Given the description of an element on the screen output the (x, y) to click on. 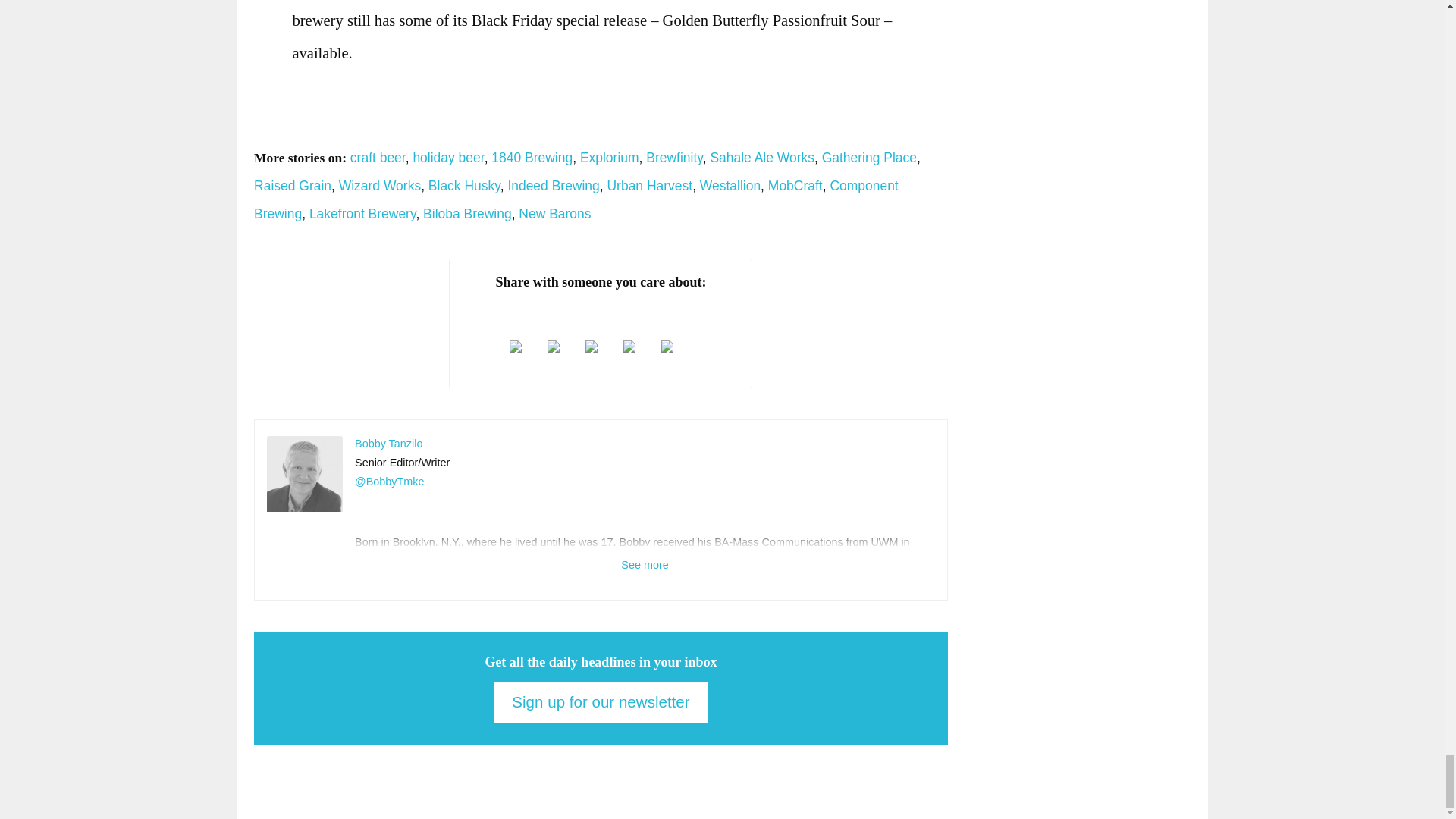
More articles by Bobby Tanzilo (388, 443)
Bobby Tanzilo (304, 473)
